Given the description of an element on the screen output the (x, y) to click on. 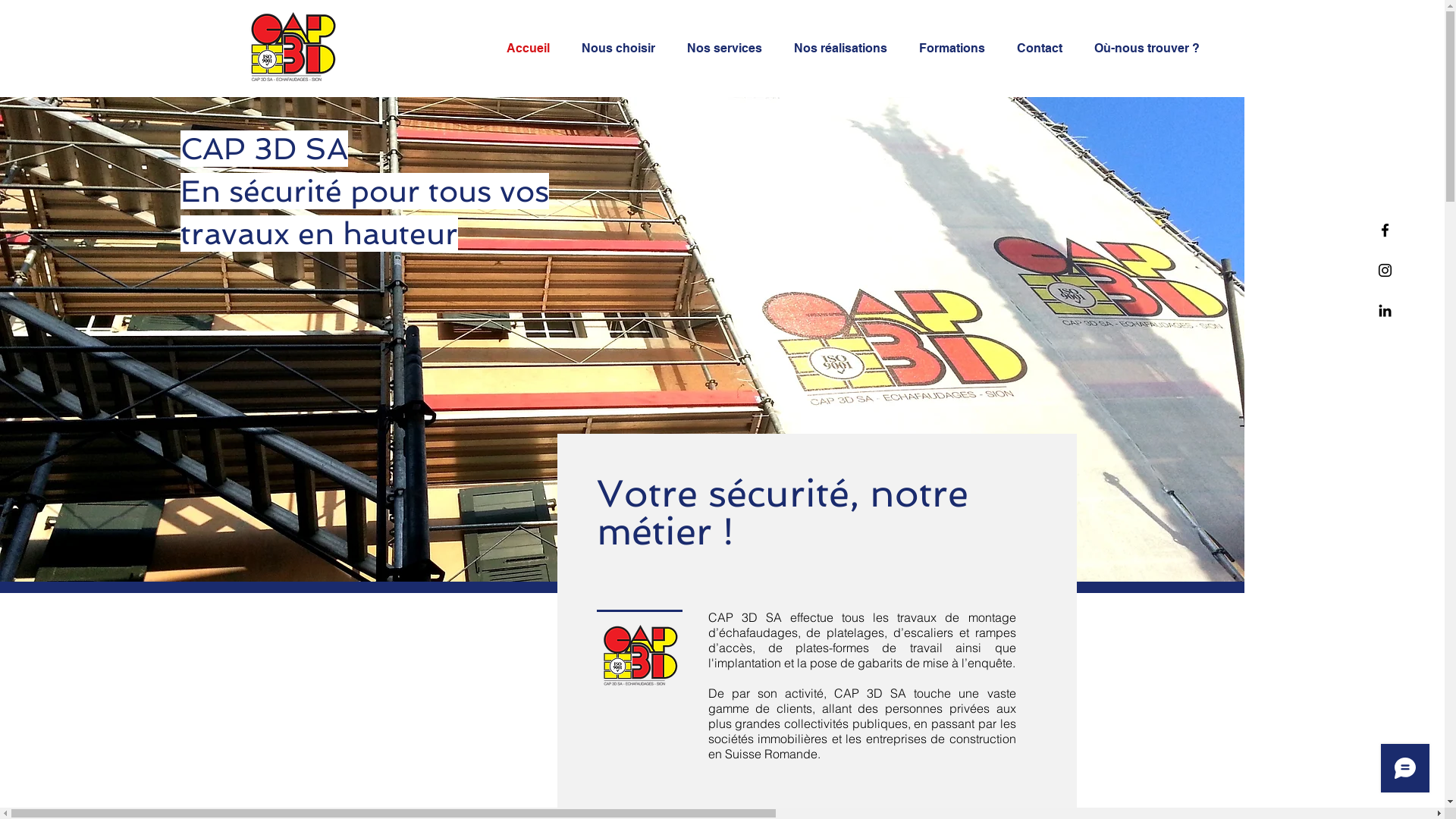
Formations Element type: text (955, 48)
Nos services Element type: text (727, 48)
Accueil Element type: text (531, 48)
Contact Element type: text (1043, 48)
Wix Chat Element type: hover (1408, 771)
Nous choisir Element type: text (622, 48)
